Given the description of an element on the screen output the (x, y) to click on. 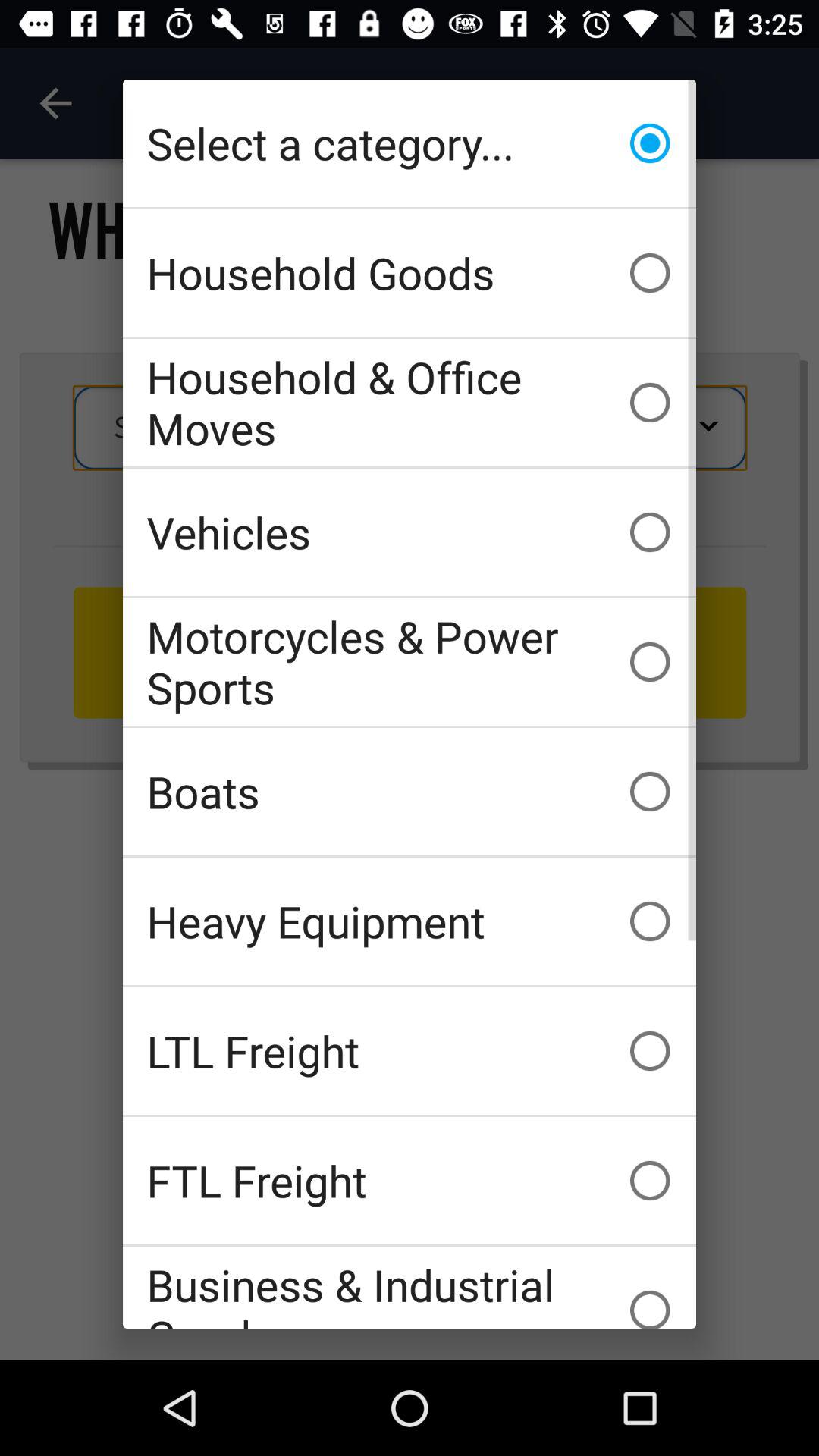
click household & office moves (409, 402)
